Given the description of an element on the screen output the (x, y) to click on. 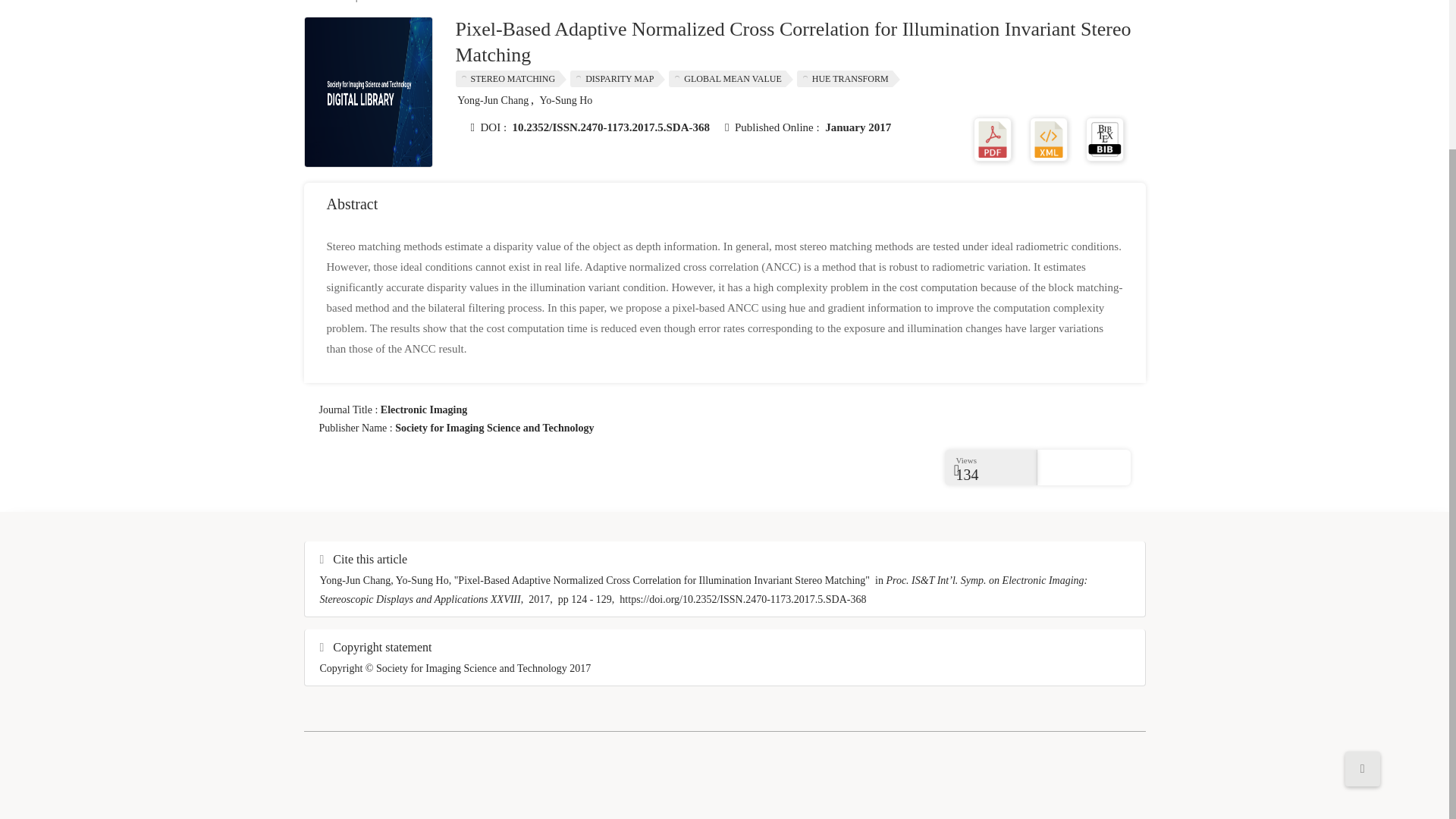
Download PDF (992, 137)
GLOBAL MEAN VALUE (730, 78)
Download BibTeX (1105, 137)
STEREO MATCHING (510, 78)
DISPARITY MAP (617, 78)
Download XML (1048, 137)
HUE TRANSFORM (847, 78)
